Given the description of an element on the screen output the (x, y) to click on. 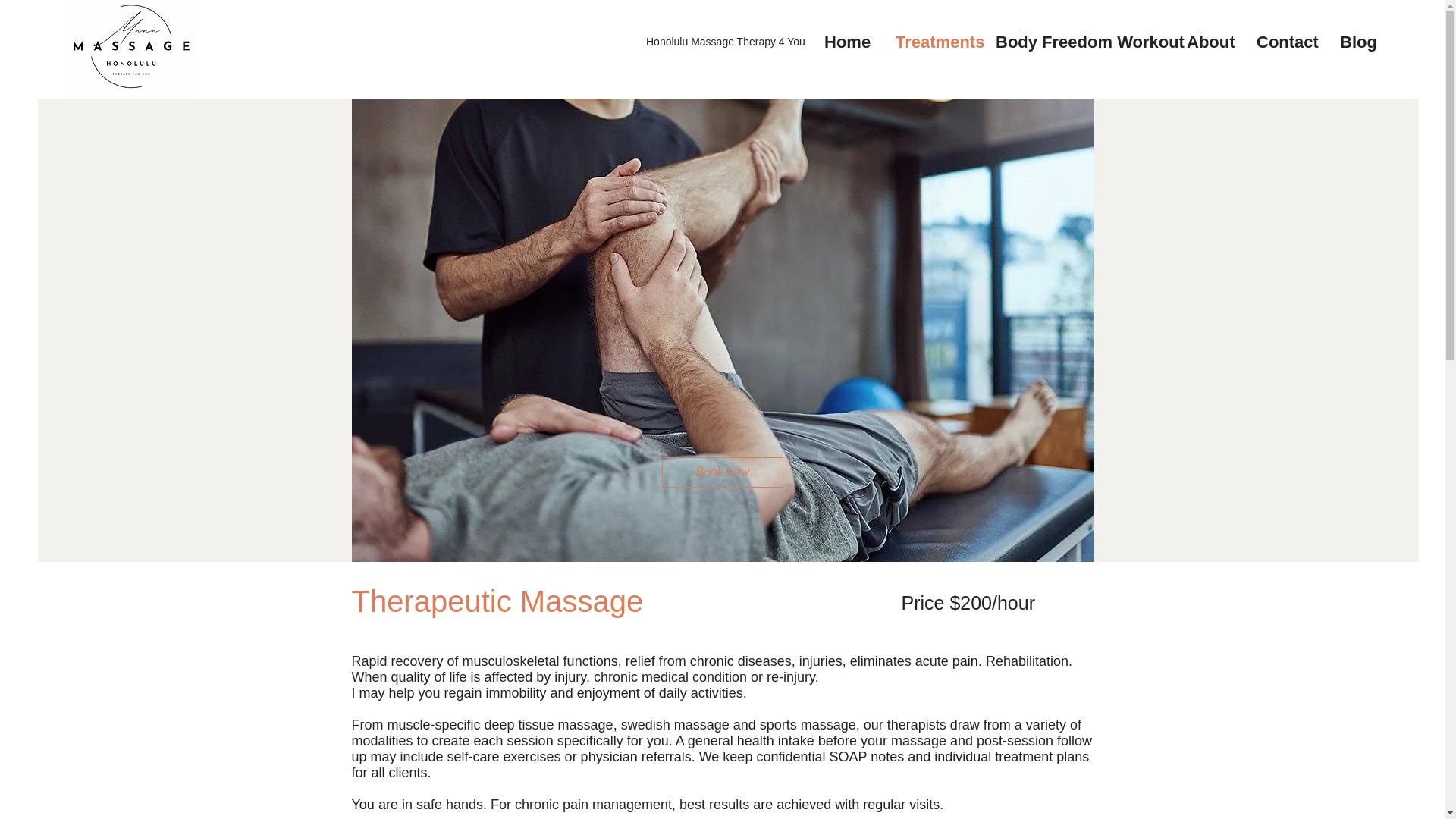
Honolulu Massage Therapy 4 You (725, 41)
Blog (1361, 42)
Home (852, 42)
Body Freedom Workout (1083, 42)
Treatments (938, 42)
Book now (722, 472)
About (1214, 42)
Contact (1290, 42)
